Given the description of an element on the screen output the (x, y) to click on. 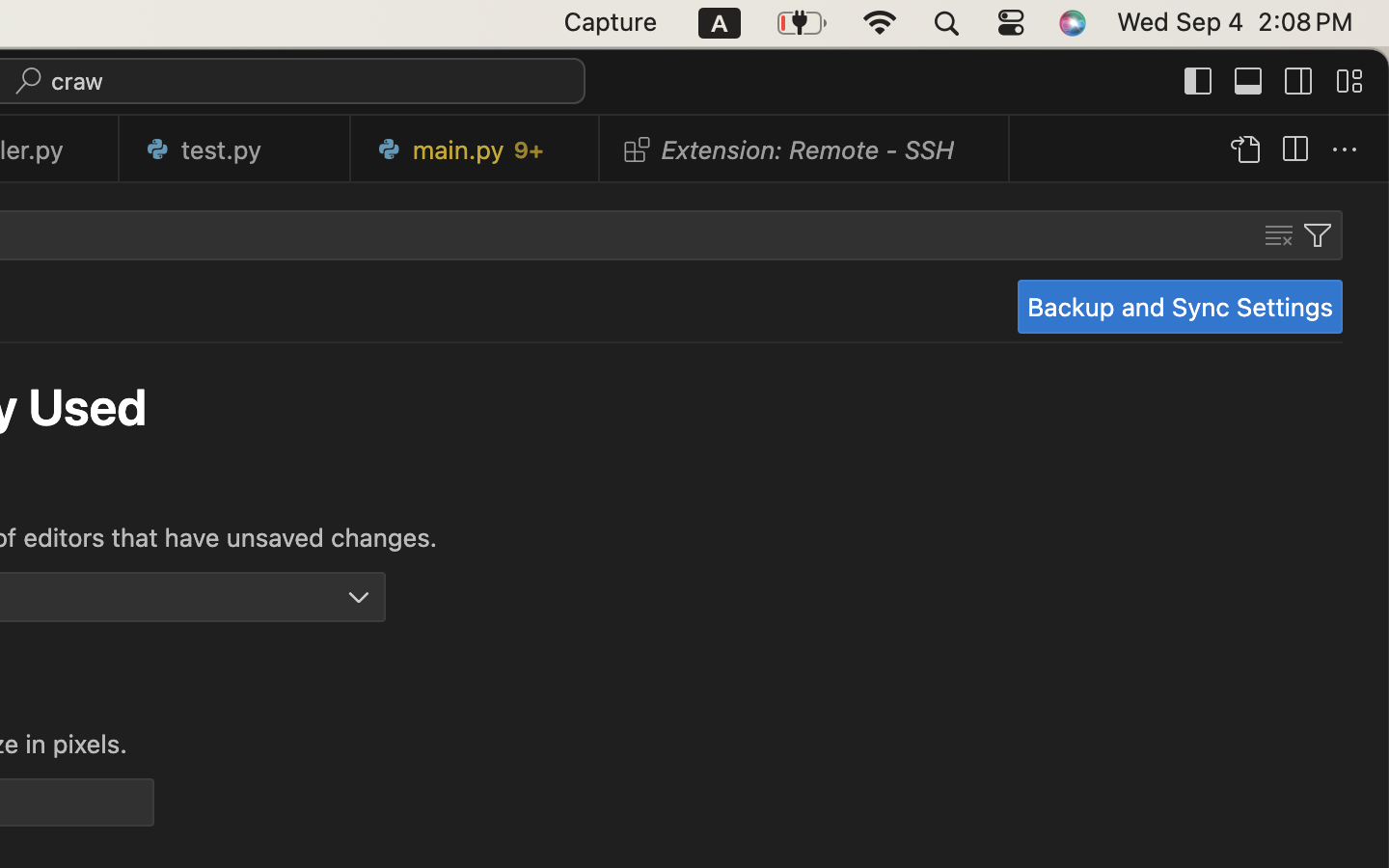
 Element type: AXStaticText (1317, 234)
 Element type: AXButton (1349, 80)
 Element type: AXButton (1244, 150)
 Element type: AXCheckBox (1248, 80)
 Element type: AXStaticText (358, 597)
